Given the description of an element on the screen output the (x, y) to click on. 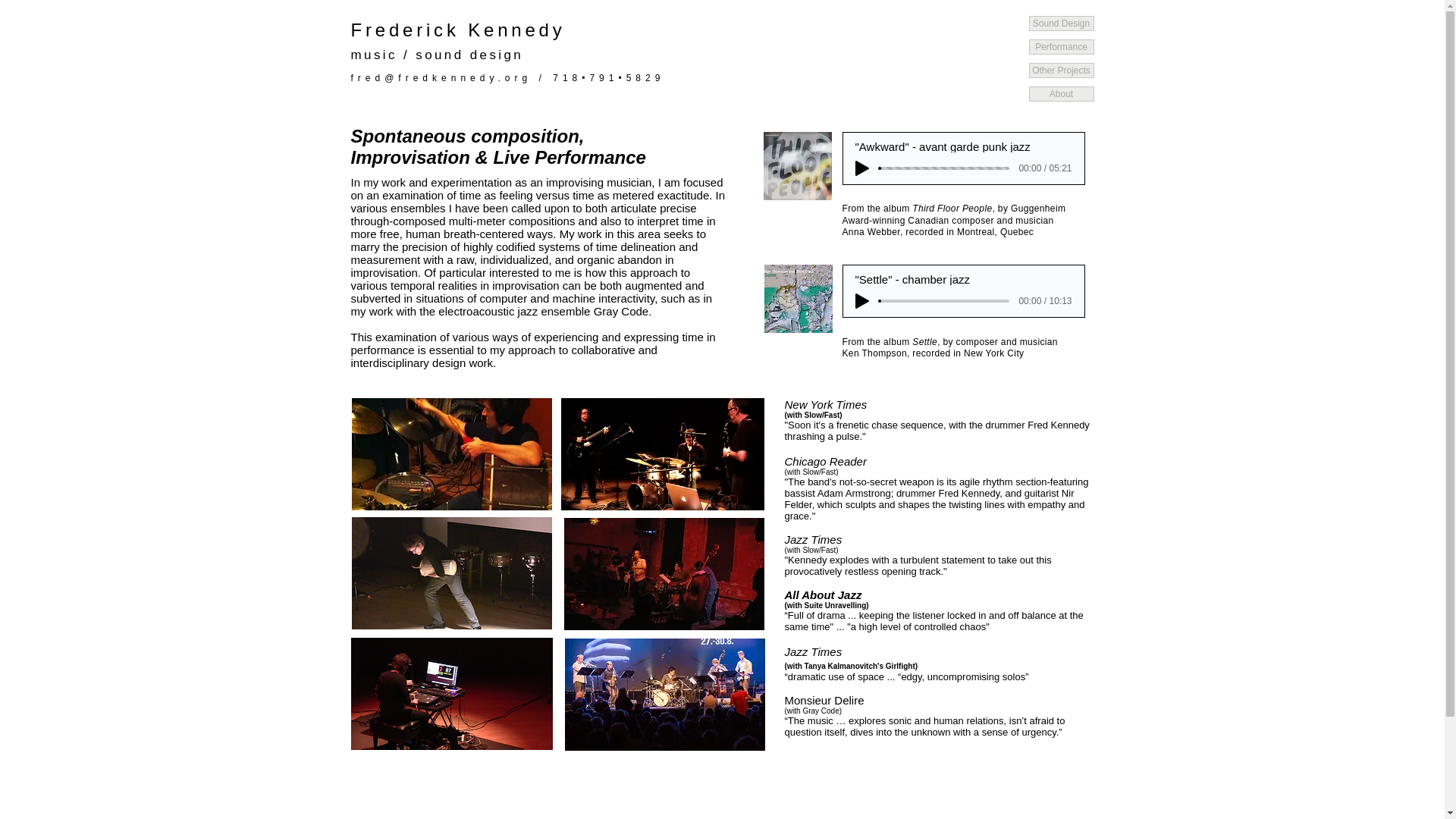
Sound Design (1060, 23)
0 (944, 300)
About (1060, 93)
Performance (1060, 46)
Other Projects (1060, 70)
0 (944, 168)
